Given the description of an element on the screen output the (x, y) to click on. 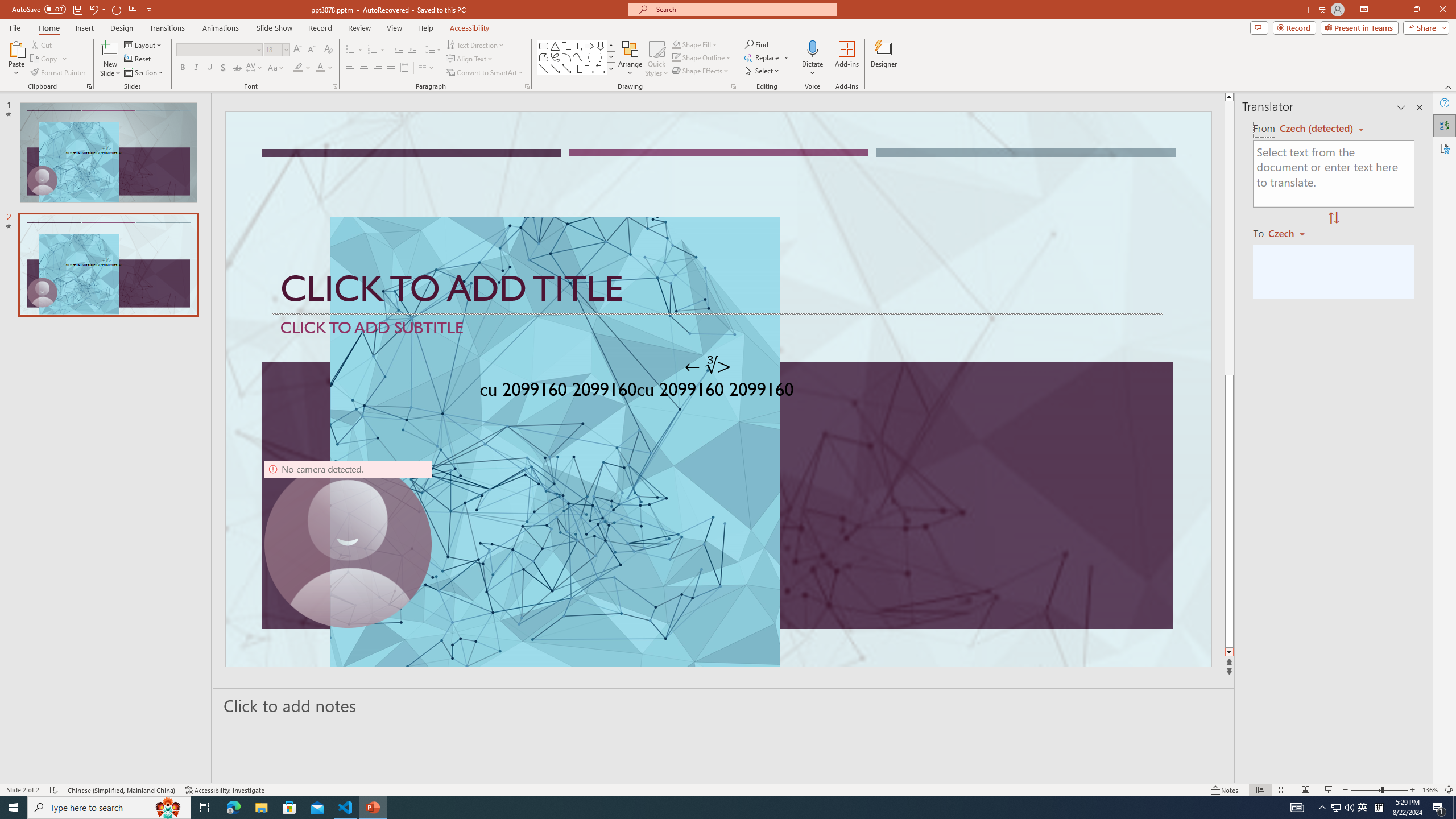
Czech (detected) (1317, 128)
